Given the description of an element on the screen output the (x, y) to click on. 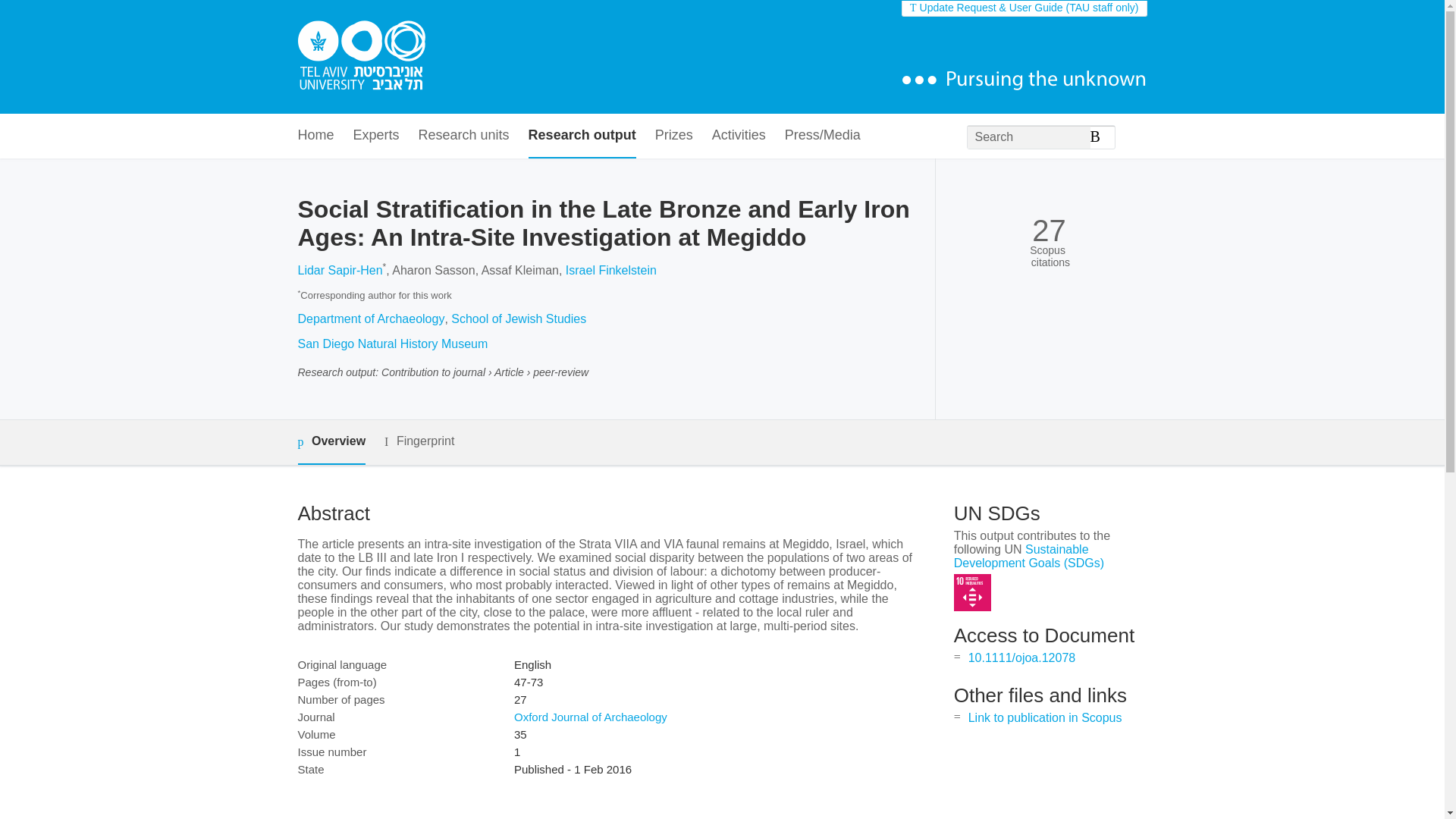
Activities (738, 135)
Research units (464, 135)
Israel Finkelstein (611, 269)
Lidar Sapir-Hen (339, 269)
Research output (582, 135)
School of Jewish Studies (518, 318)
Overview (331, 442)
Tel Aviv University Home (361, 56)
Department of Archaeology (370, 318)
Experts (375, 135)
